Given the description of an element on the screen output the (x, y) to click on. 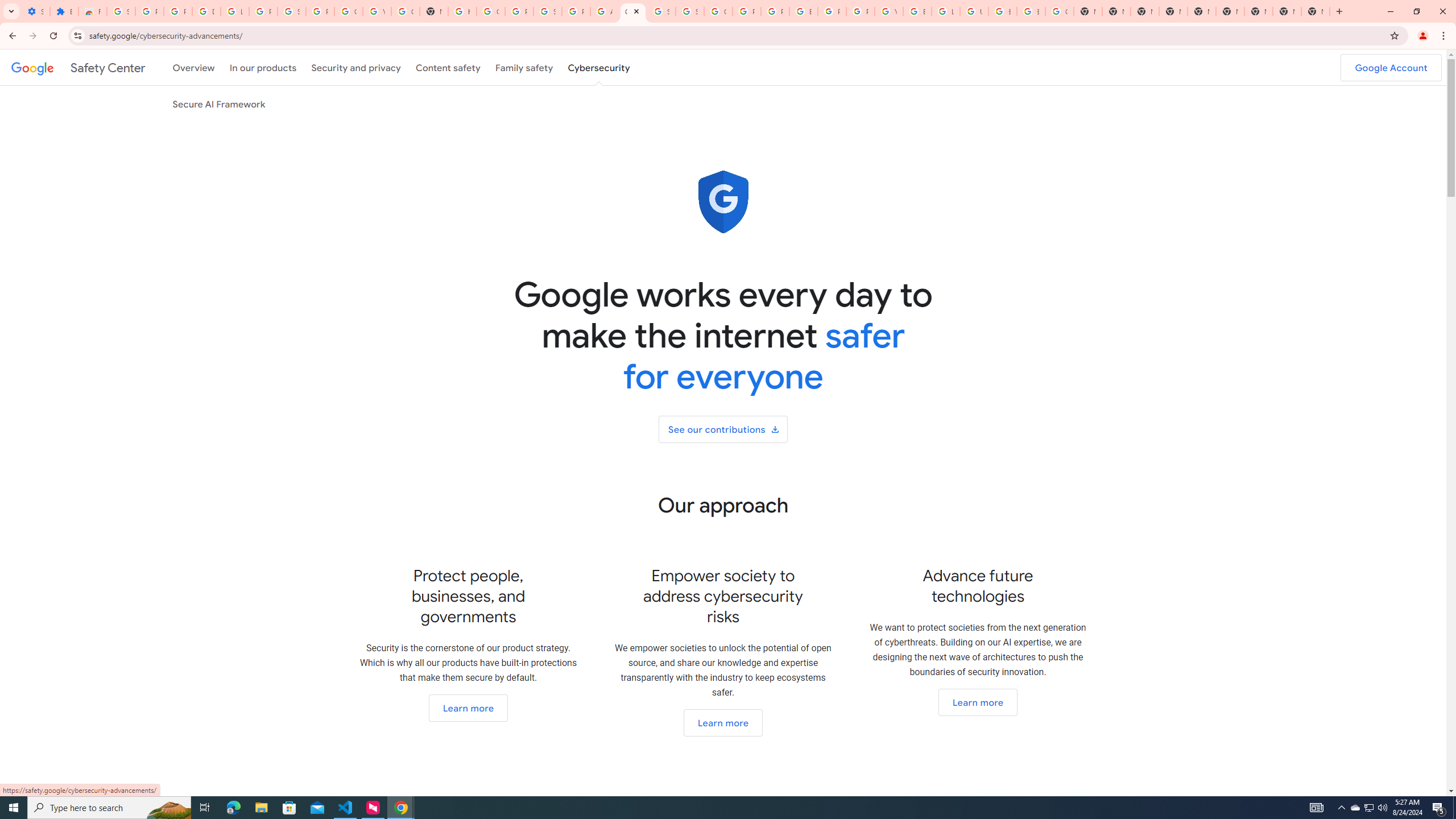
Go to our Safety section (468, 707)
Google Images (1058, 11)
Delete photos & videos - Computer - Google Photos Help (206, 11)
Privacy Help Center - Policies Help (774, 11)
